Given the description of an element on the screen output the (x, y) to click on. 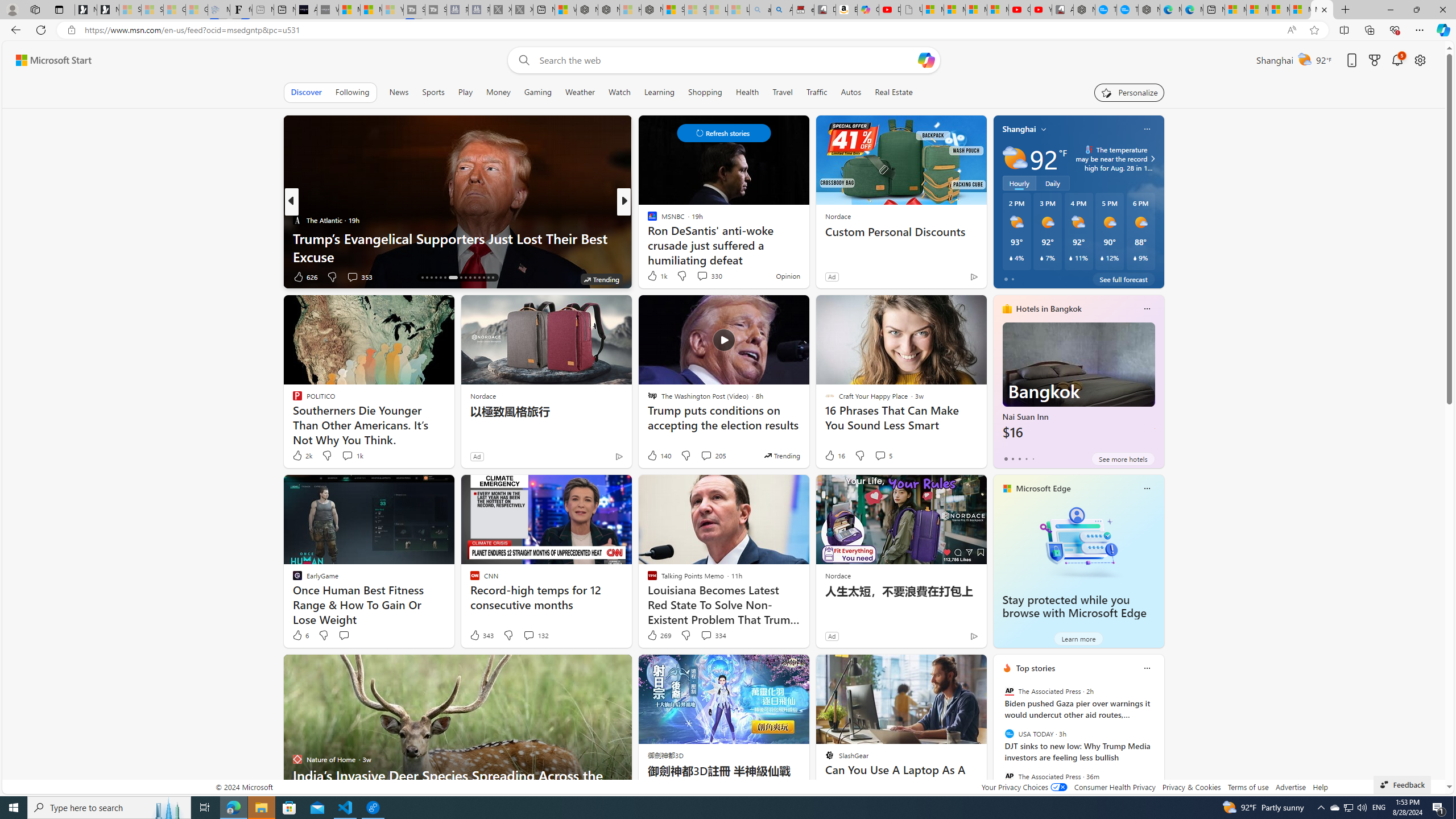
Start the conversation (343, 635)
